Given the description of an element on the screen output the (x, y) to click on. 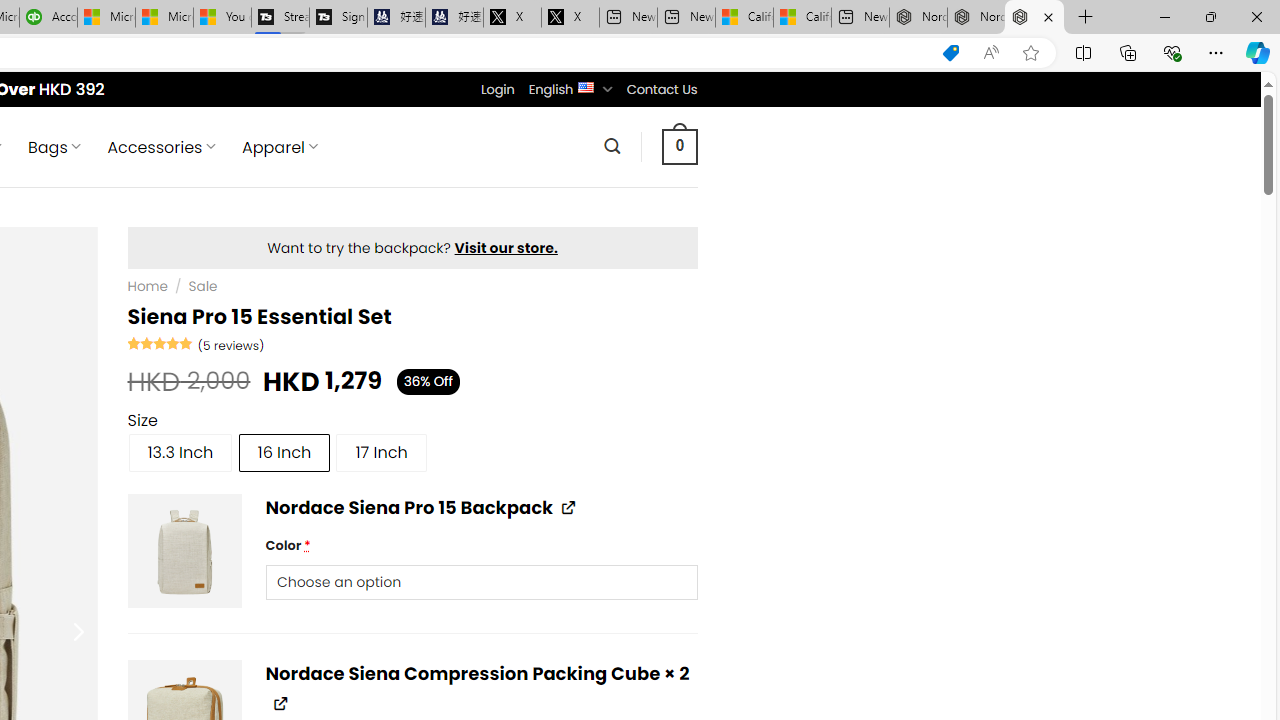
Visit our store. (506, 247)
Nordace - Best Sellers (918, 17)
(5 reviews) (230, 344)
  0   (679, 146)
Sale (202, 286)
